Given the description of an element on the screen output the (x, y) to click on. 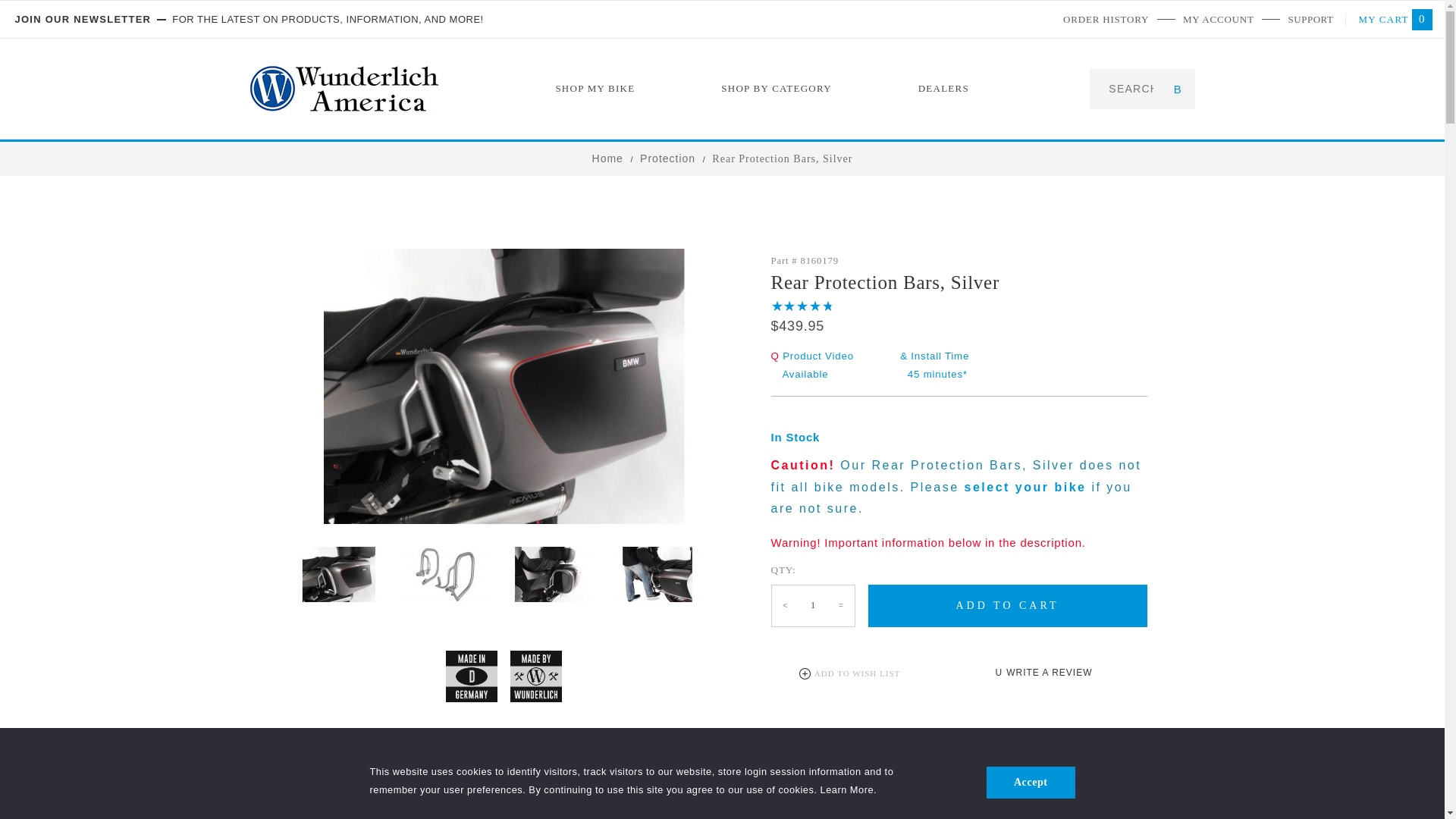
This product has a video available to watch. (811, 365)
DEALERS (943, 88)
Rear Protection Bars, Silver (656, 574)
MY ACCOUNT (1217, 18)
Rear Protection Bars, Silver (781, 158)
Rear Protection Bars, Silver (503, 386)
Rear Protection Bars, Silver (550, 574)
Rear Protection Bars, Silver (444, 574)
4.74 out of 5. (802, 306)
Wunderlich America (343, 88)
Sign In (1308, 59)
This product is manufactured in Germany (471, 675)
Support (1310, 18)
ORDER HISTORY (1105, 18)
Rear Protection Bars, Silver (338, 574)
